Given the description of an element on the screen output the (x, y) to click on. 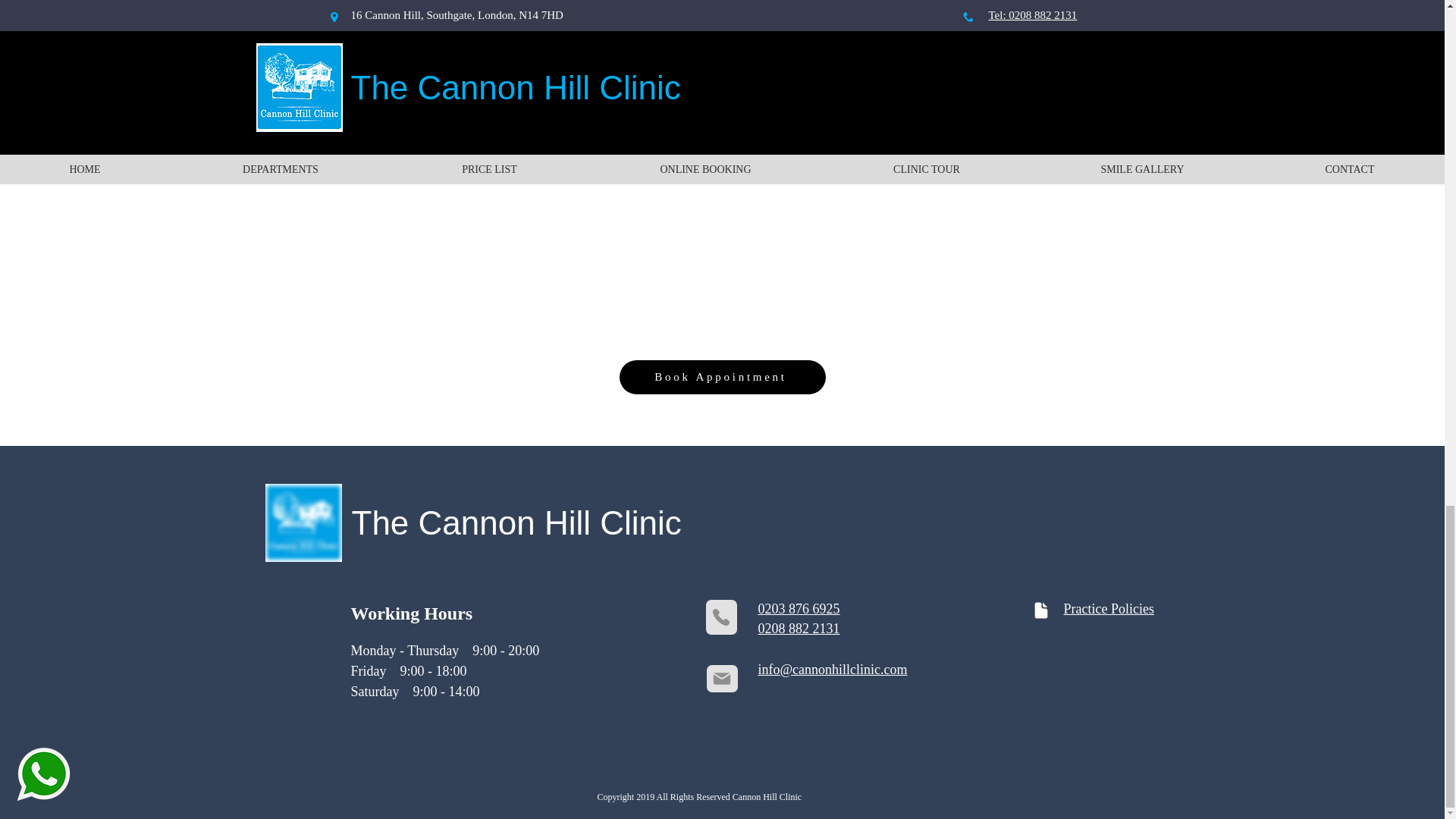
Book Appointment (721, 376)
Practice Policies (1107, 608)
0208 882 2131 (799, 628)
0203 876 6925 (799, 608)
